Given the description of an element on the screen output the (x, y) to click on. 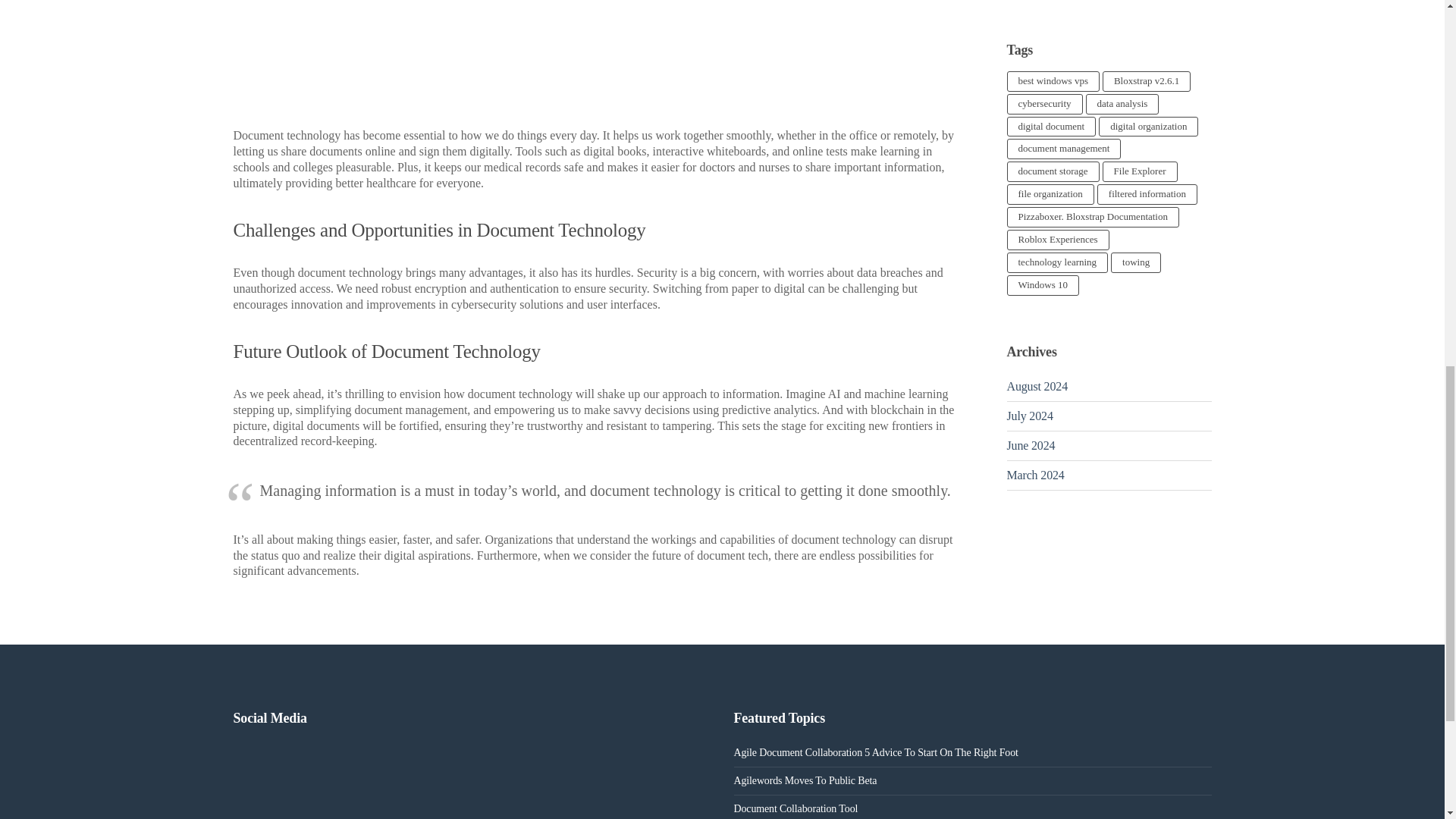
filtered information (1146, 194)
document storage (1053, 171)
File Explorer (1139, 171)
file organization (1050, 194)
Bloxstrap v2.6.1 (1146, 81)
cybersecurity (1045, 104)
data analysis (1122, 104)
best windows vps (1053, 81)
digital document (1051, 127)
digital organization (1148, 127)
